Given the description of an element on the screen output the (x, y) to click on. 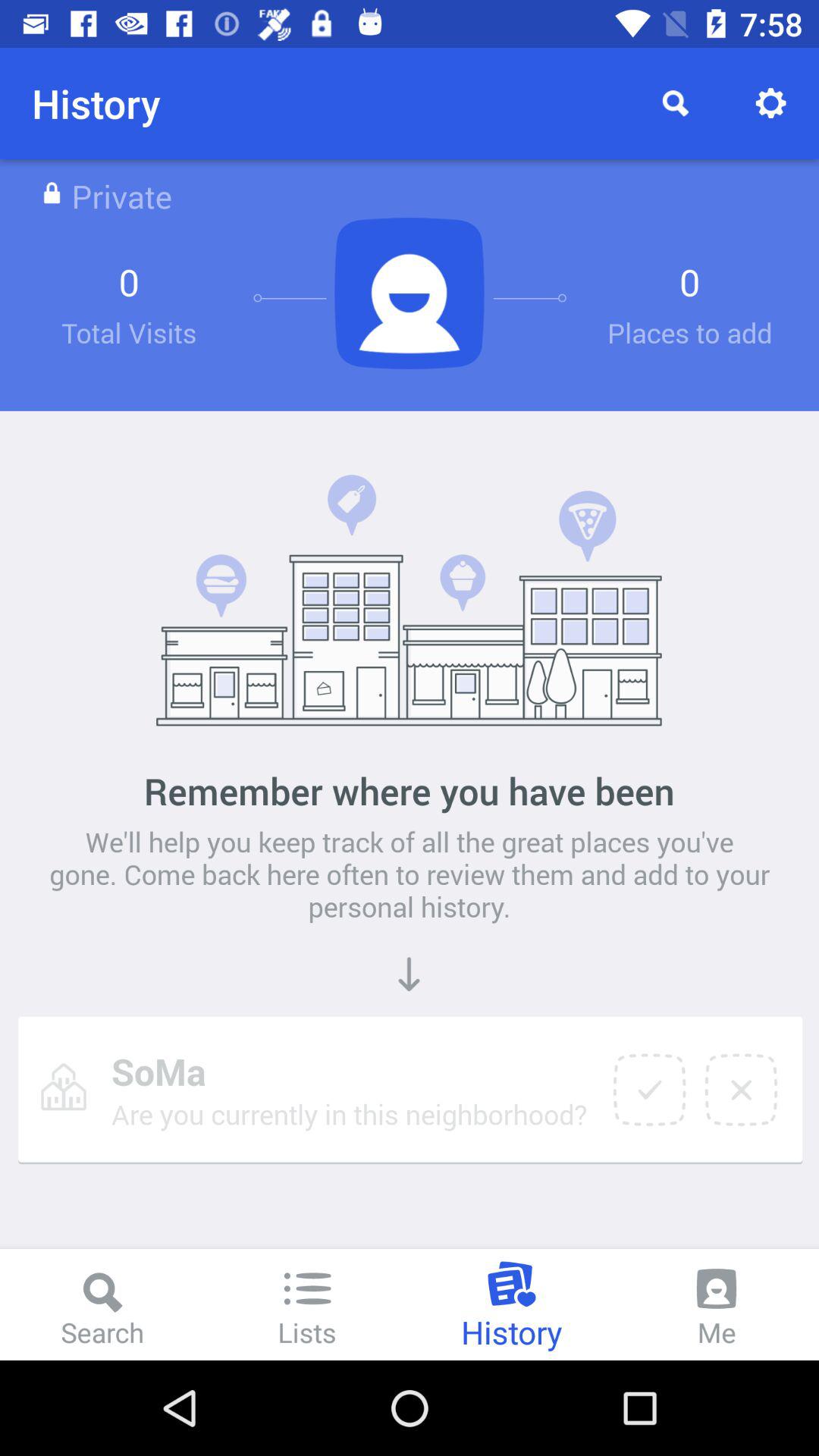
click icon below the we ll help item (649, 1089)
